Given the description of an element on the screen output the (x, y) to click on. 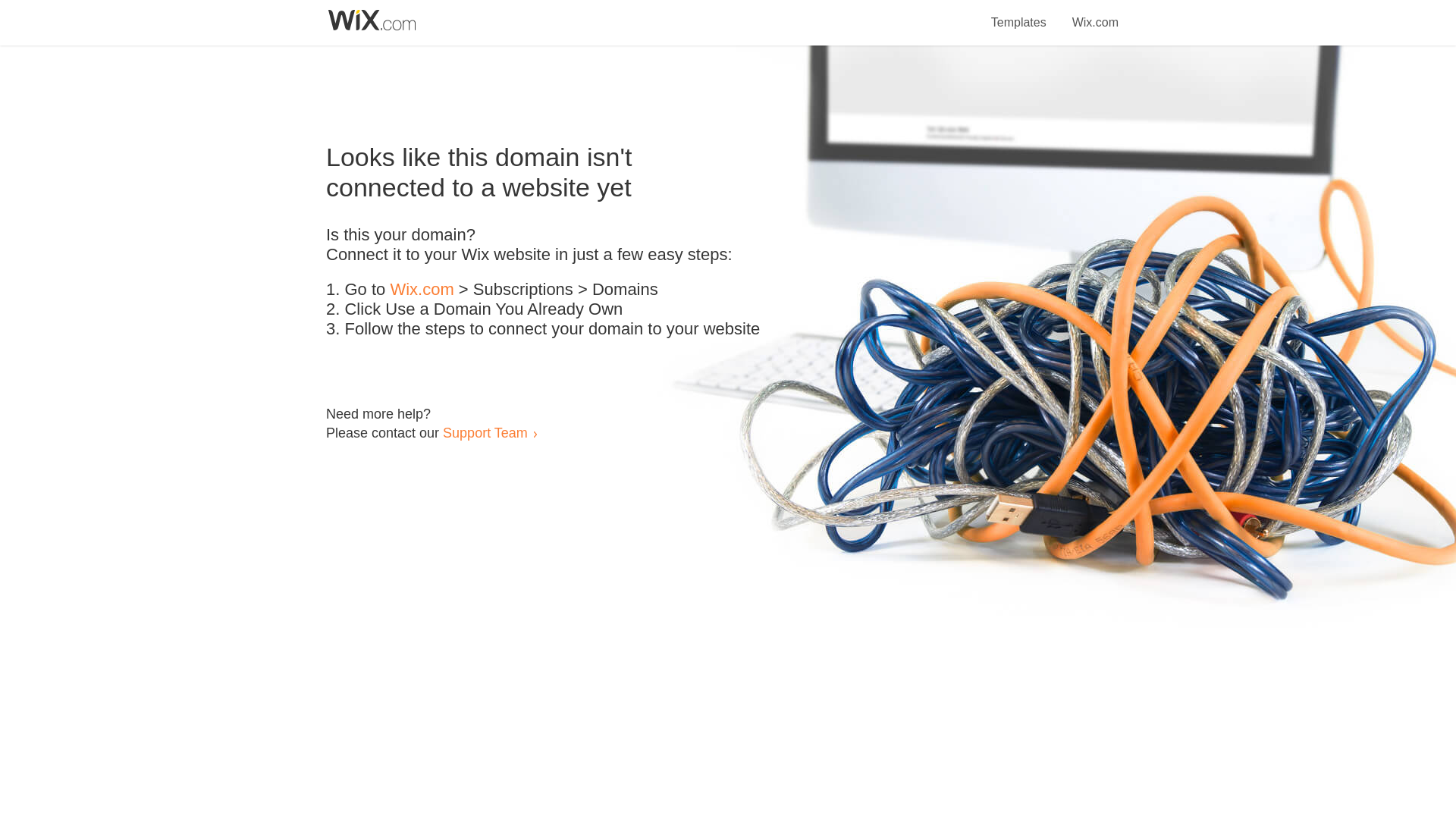
Wix.com (1095, 14)
Support Team (484, 432)
Templates (1018, 14)
Wix.com (421, 289)
